Given the description of an element on the screen output the (x, y) to click on. 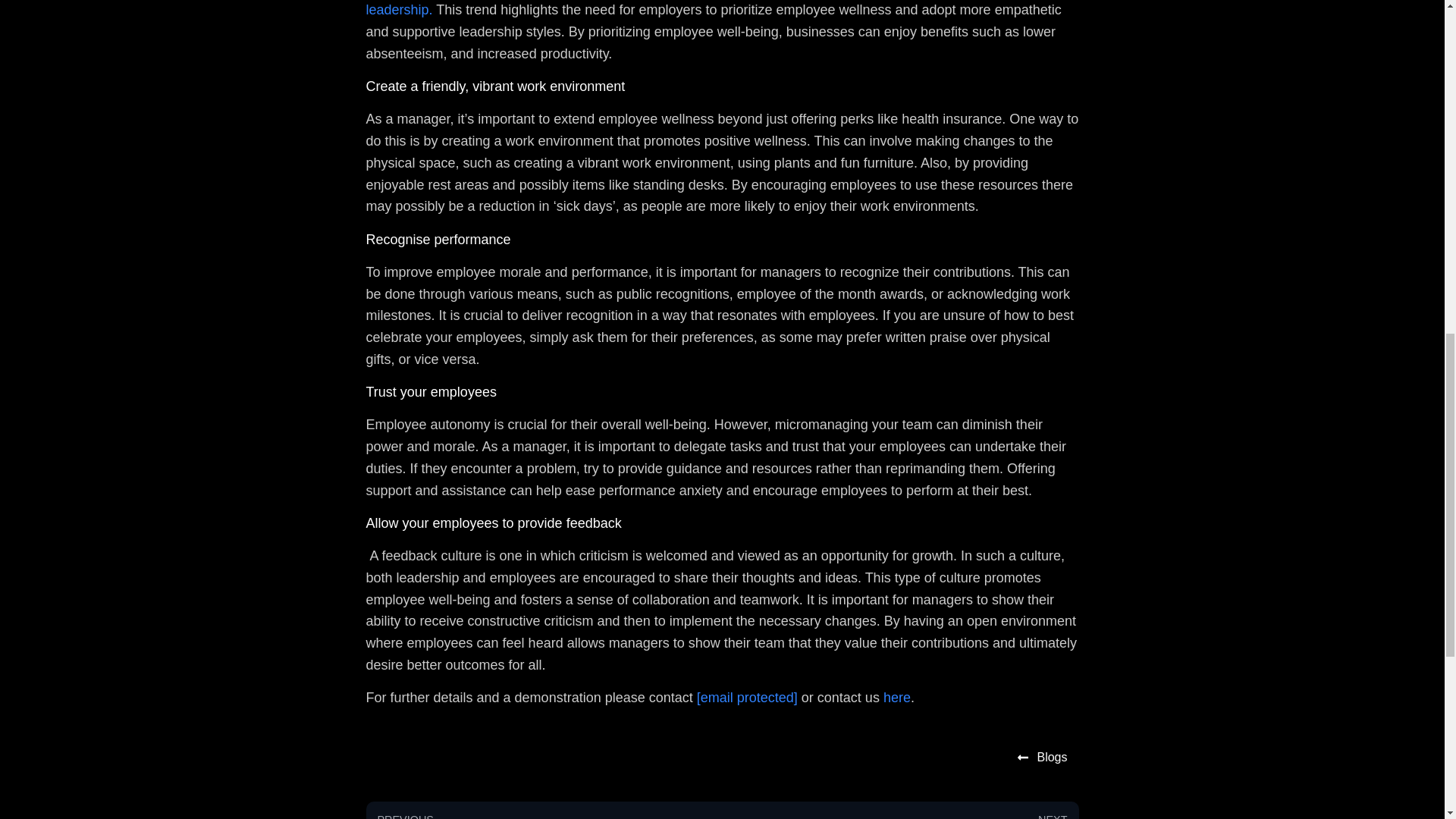
here (897, 697)
Blogs (1042, 758)
